Given the description of an element on the screen output the (x, y) to click on. 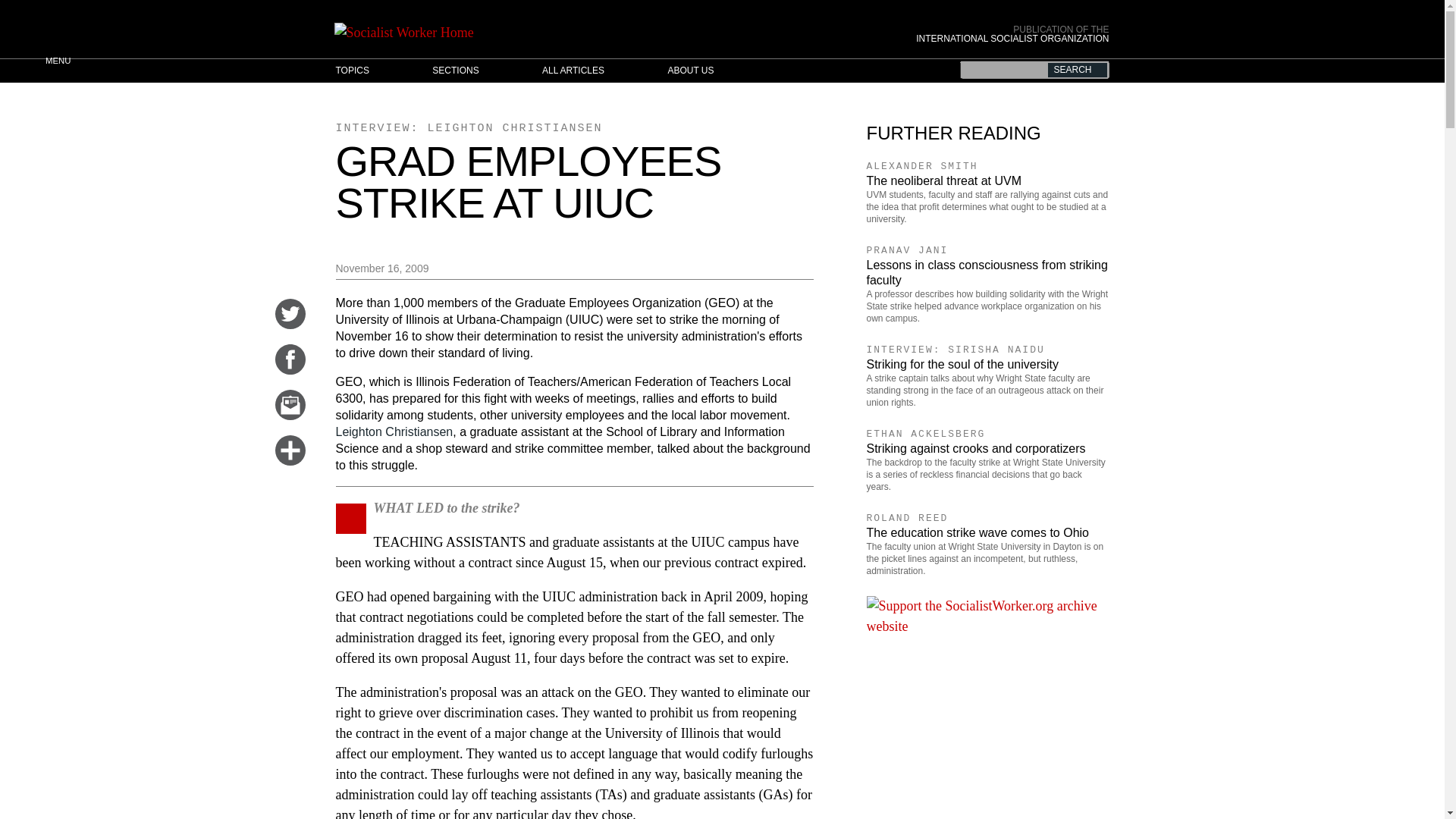
Search (1077, 69)
Click for more options (289, 460)
Share on Facebook (289, 369)
Enter the terms you wish to search for. (1034, 69)
Share on Twitter (289, 324)
Email this story (289, 415)
Home (616, 32)
TOPICS (366, 70)
